Given the description of an element on the screen output the (x, y) to click on. 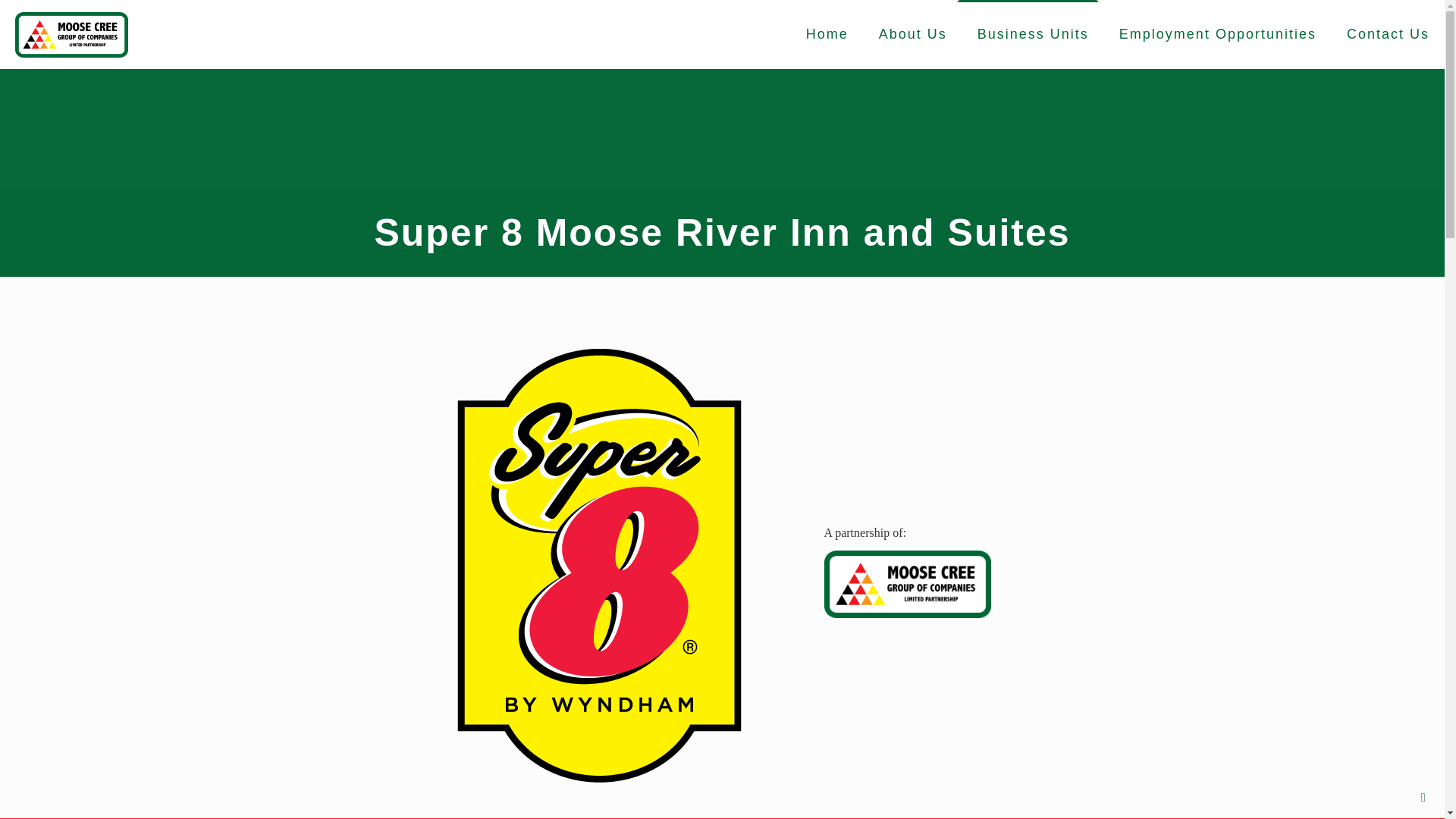
Home (826, 33)
About Us (912, 33)
Employment Opportunities (1217, 33)
Moose Cree Group of Companies (71, 33)
Business Units (1032, 33)
